Given the description of an element on the screen output the (x, y) to click on. 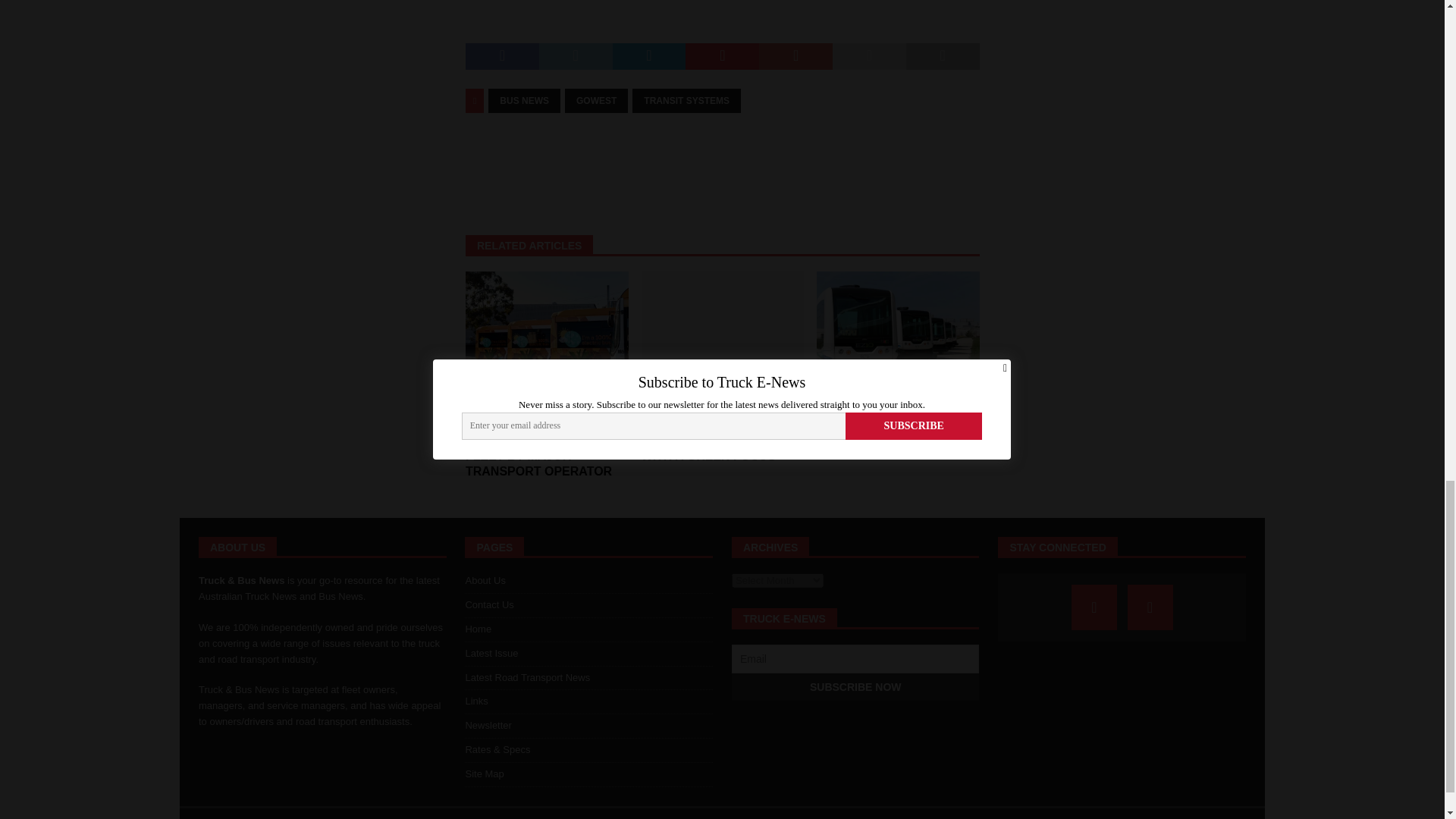
NT ANNOUNCES AUTONOMOUS BUS TRIALS (875, 424)
Subscribe Now (855, 687)
BUS NEWS (523, 100)
TRANSIT SYSTEMS (686, 100)
NT ANNOUNCES AUTONOMOUS BUS TRIALS (897, 332)
GOWEST (595, 100)
